Given the description of an element on the screen output the (x, y) to click on. 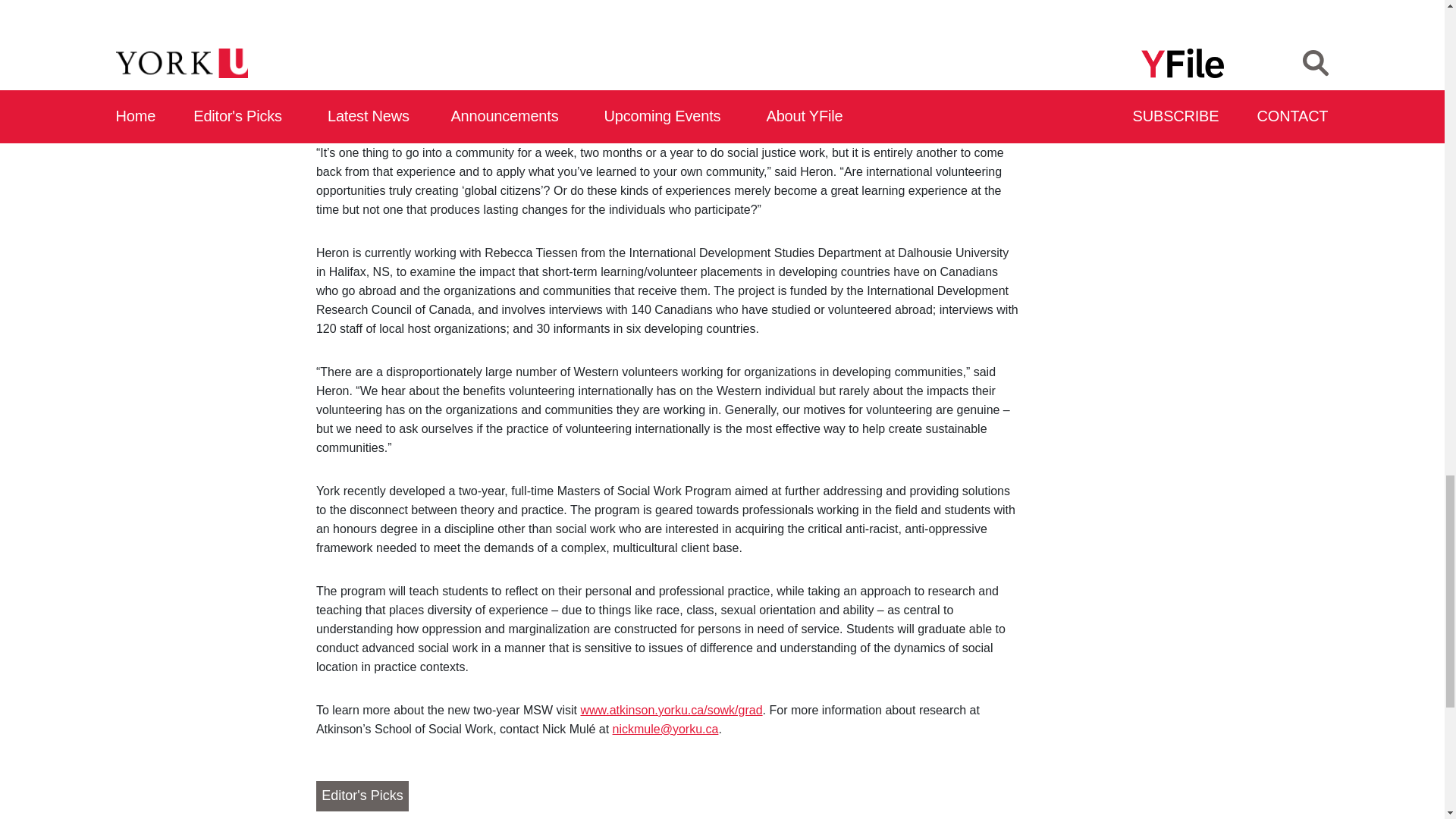
Editor's Picks (362, 796)
